Given the description of an element on the screen output the (x, y) to click on. 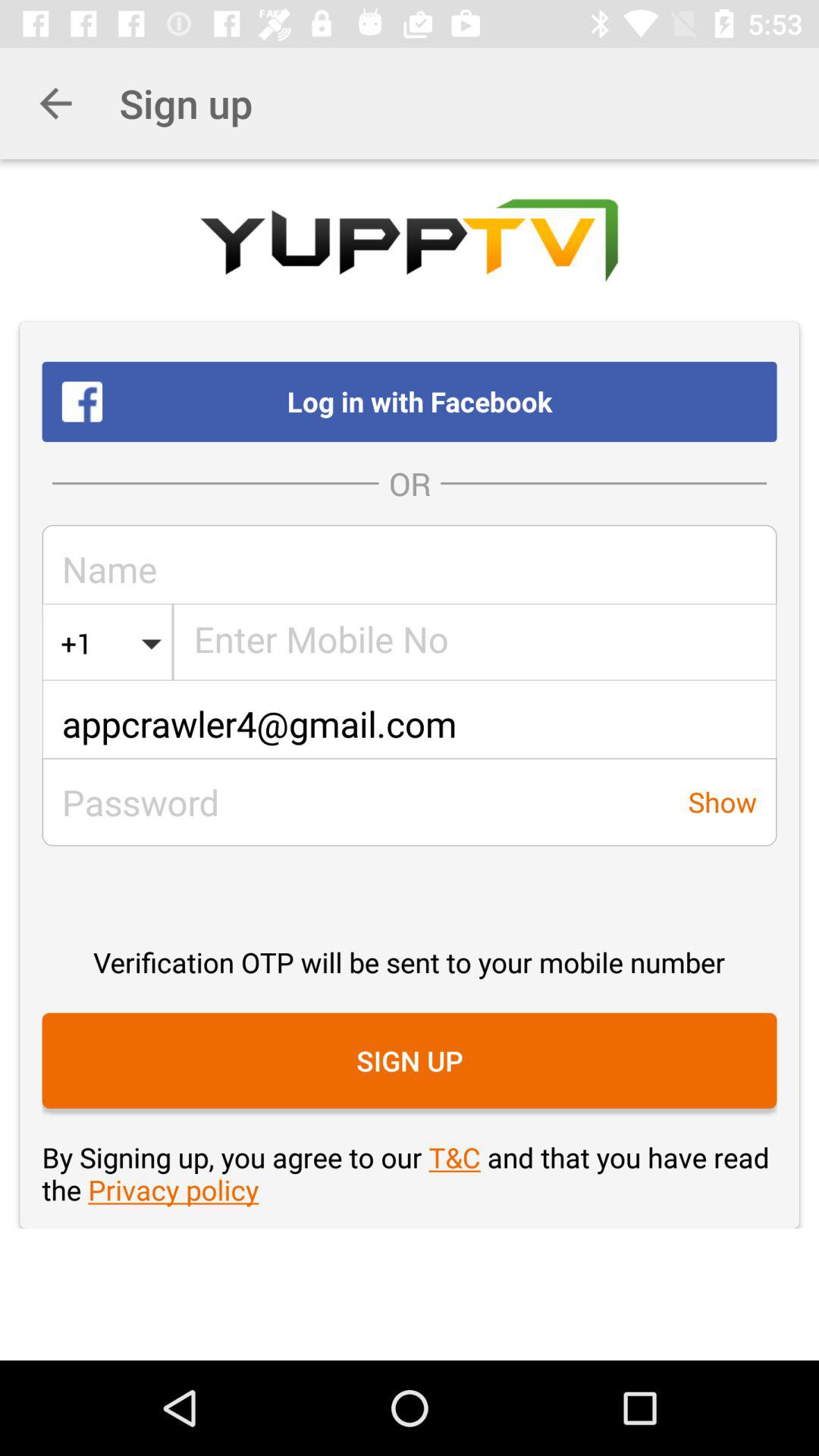
launch item on the right (722, 801)
